Given the description of an element on the screen output the (x, y) to click on. 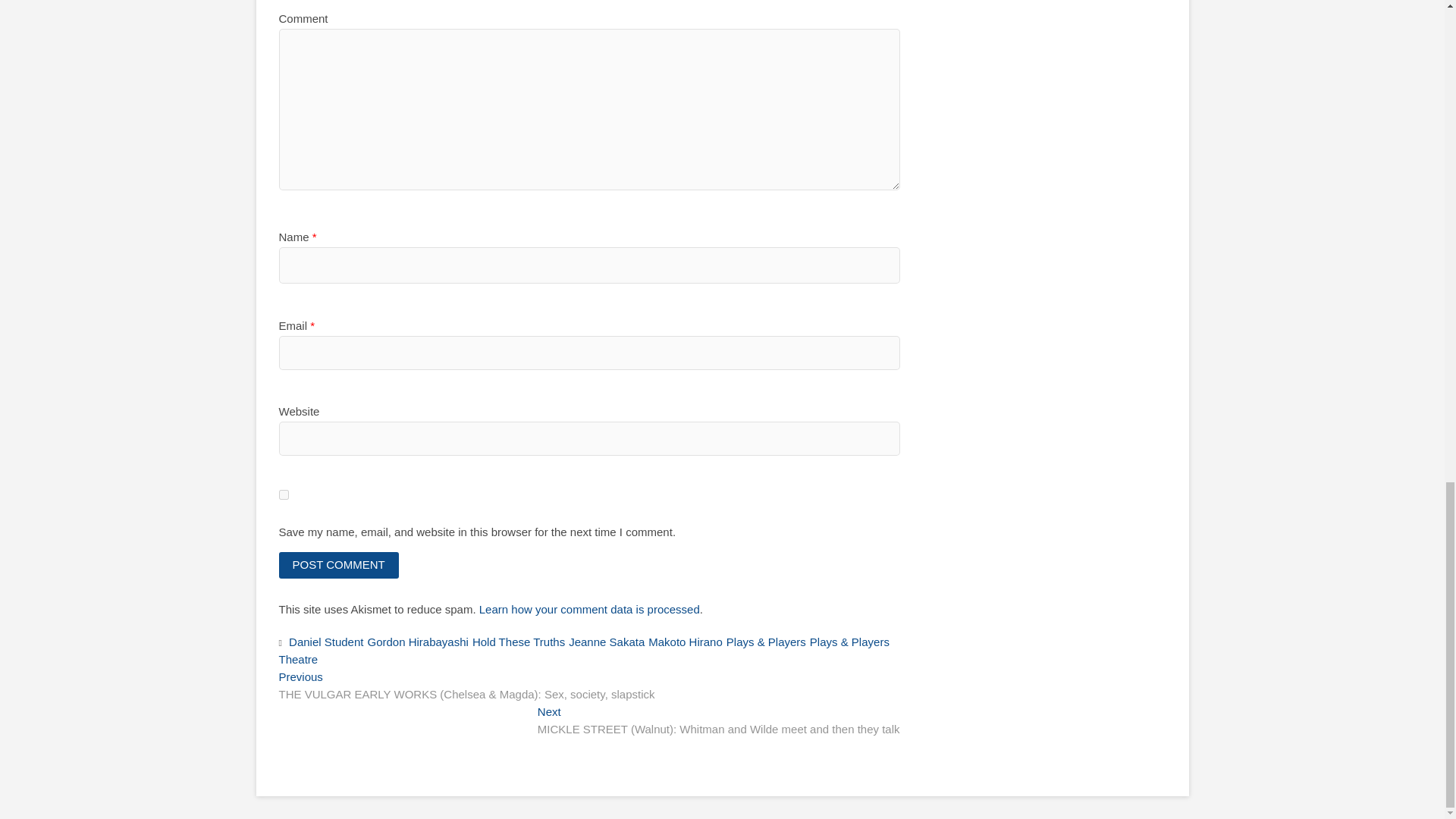
Gordon Hirabayashi (418, 643)
yes (283, 494)
Hold These Truths (520, 643)
Post Comment (338, 565)
Daniel Student (327, 643)
Jeanne Sakata (608, 643)
Post Comment (338, 565)
Makoto Hirano (686, 643)
Learn how your comment data is processed (589, 608)
